Given the description of an element on the screen output the (x, y) to click on. 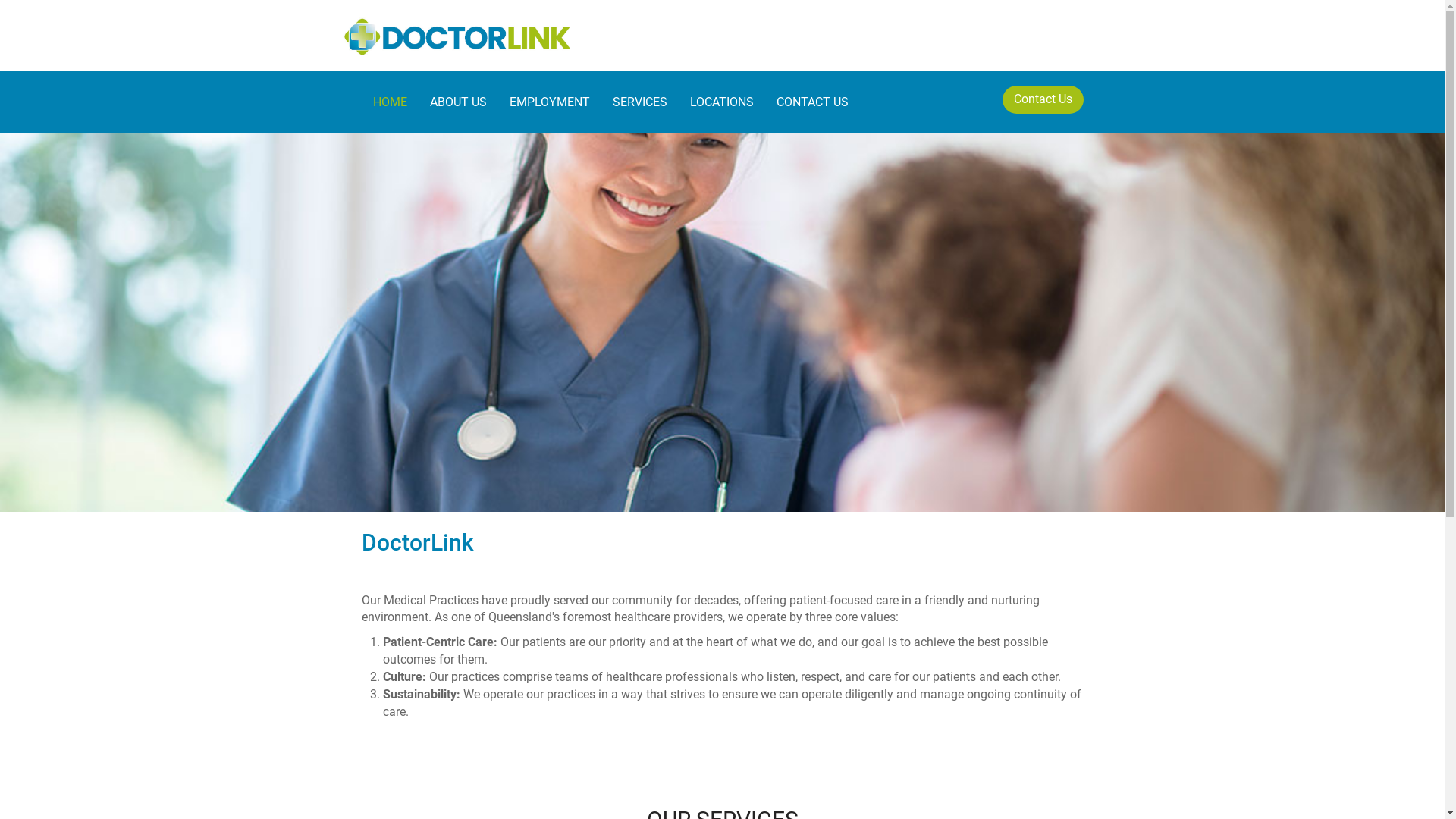
LOCATIONS Element type: text (720, 101)
Contact Us Element type: text (1042, 99)
SERVICES Element type: text (638, 101)
CONTACT US Element type: text (811, 101)
EMPLOYMENT Element type: text (548, 101)
ABOUT US Element type: text (458, 101)
HOME Element type: text (388, 101)
